Given the description of an element on the screen output the (x, y) to click on. 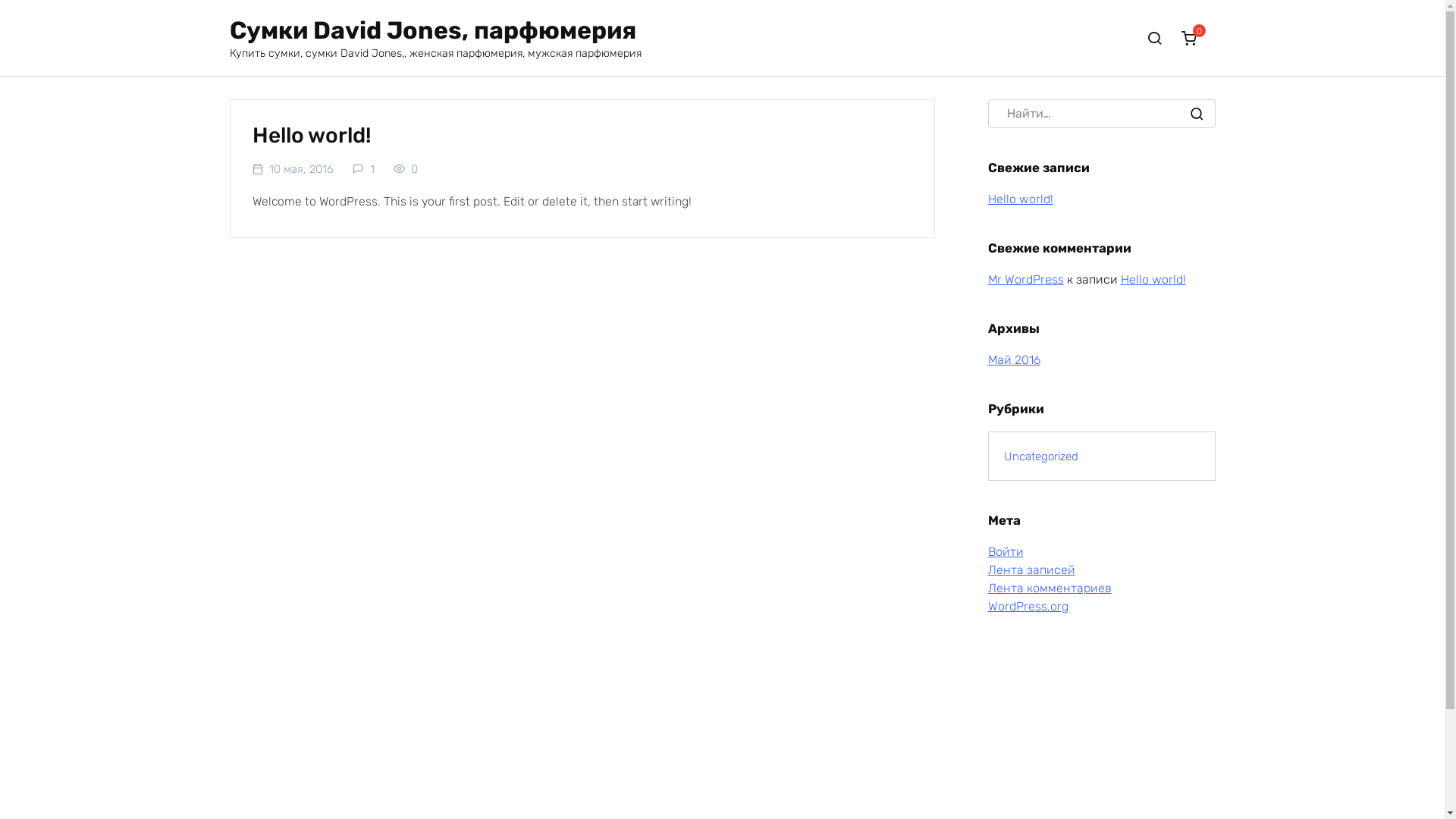
Hello world! Element type: text (310, 134)
Hello world! Element type: text (1019, 198)
0 Element type: text (1193, 37)
Uncategorized Element type: text (1041, 456)
Hello world! Element type: text (1153, 279)
WordPress.org Element type: text (1027, 606)
Mr WordPress Element type: text (1025, 279)
